Given the description of an element on the screen output the (x, y) to click on. 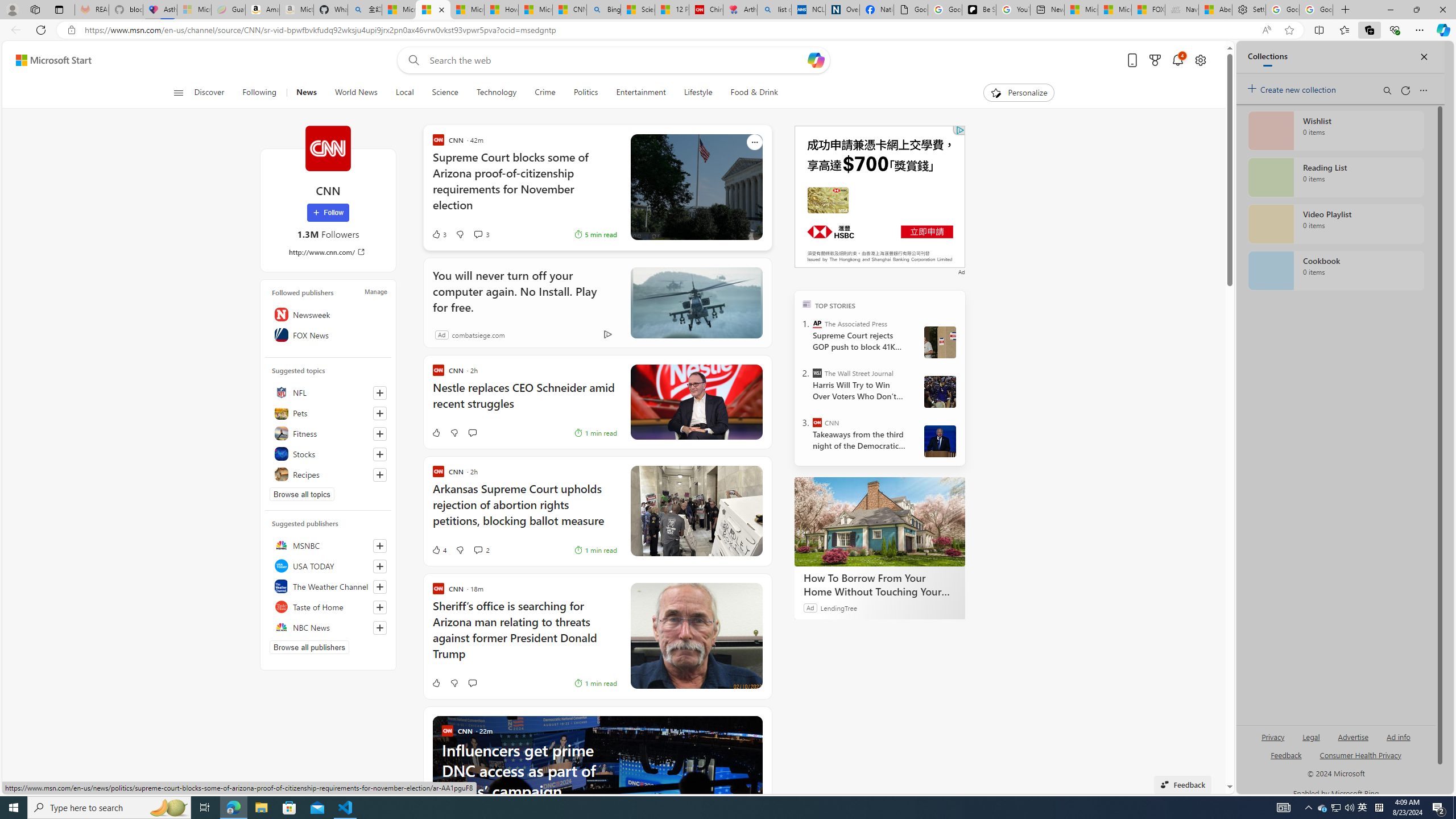
The Weather Channel (327, 586)
4 Like (438, 549)
Entertainment (641, 92)
Fitness (327, 433)
Follow this topic (379, 474)
World News (355, 92)
AutomationID: canvas (879, 196)
App bar (728, 29)
FOX News - MSN (1148, 9)
